Given the description of an element on the screen output the (x, y) to click on. 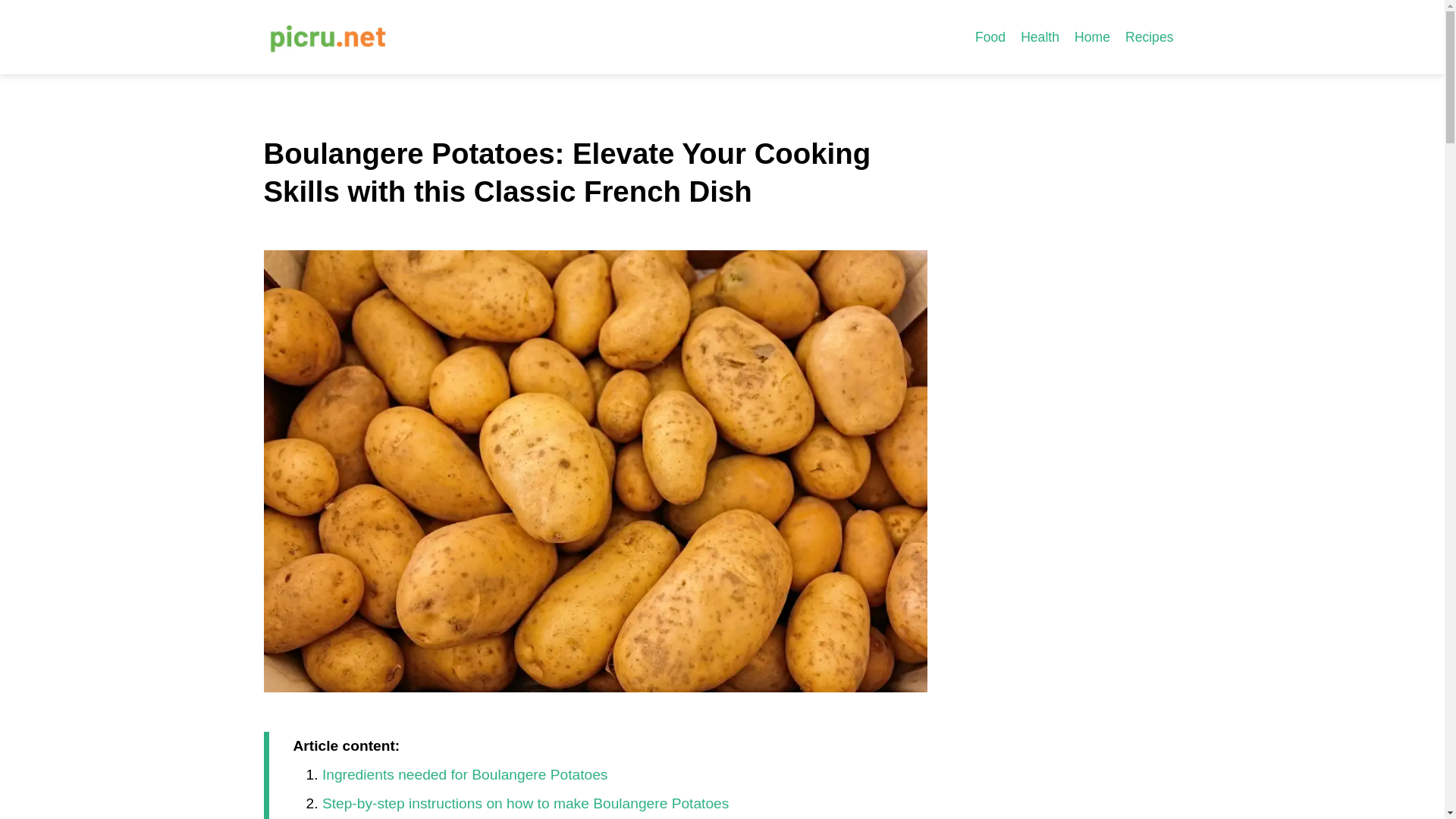
Ingredients needed for Boulangere Potatoes (464, 774)
Health (1040, 36)
Home (1092, 36)
Recipes (1149, 36)
Step-by-step instructions on how to make Boulangere Potatoes (525, 803)
Food (990, 36)
